Given the description of an element on the screen output the (x, y) to click on. 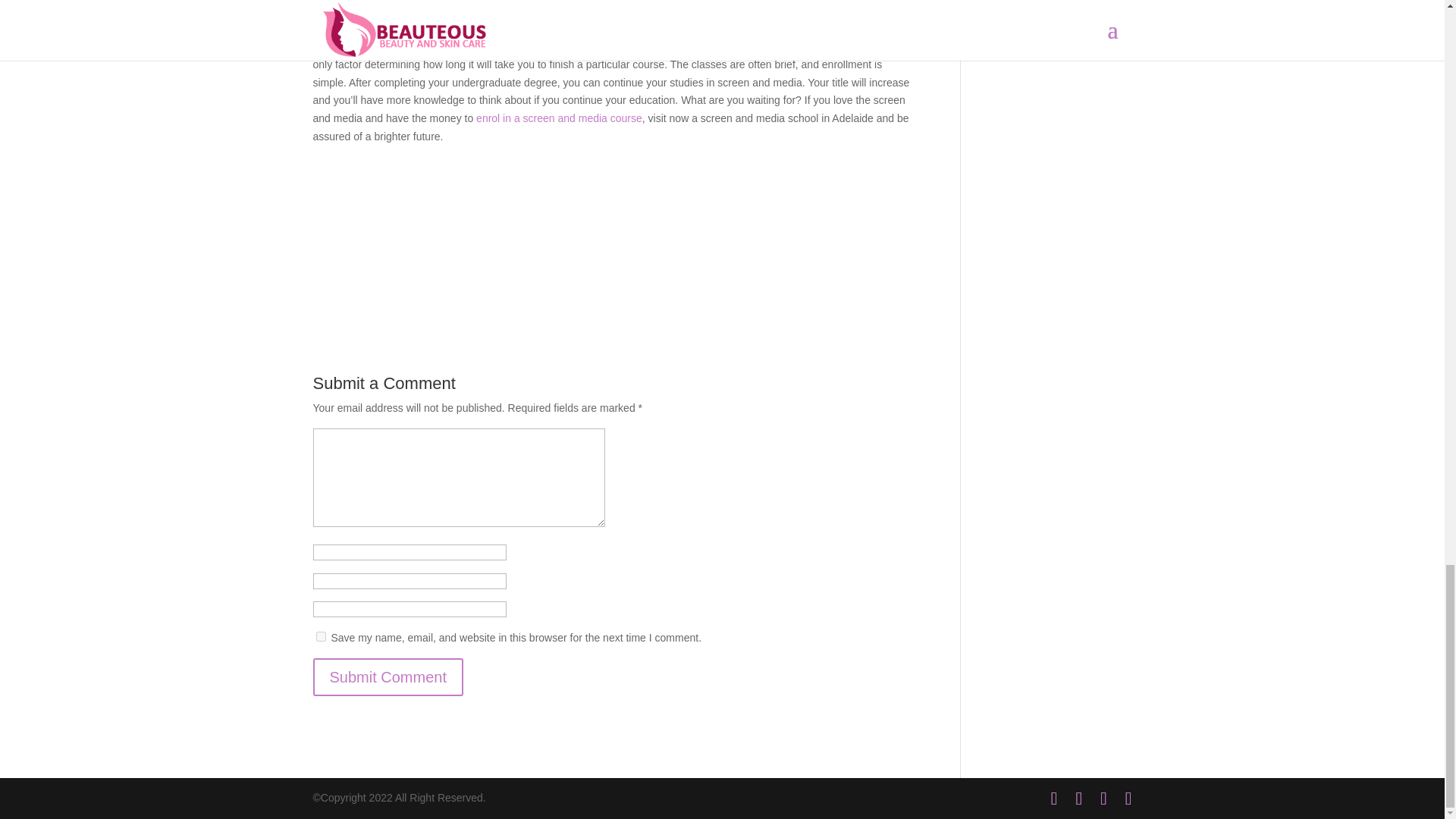
enrol in a screen and media course (559, 118)
yes (319, 636)
Submit Comment (388, 677)
Submit Comment (388, 677)
